Given the description of an element on the screen output the (x, y) to click on. 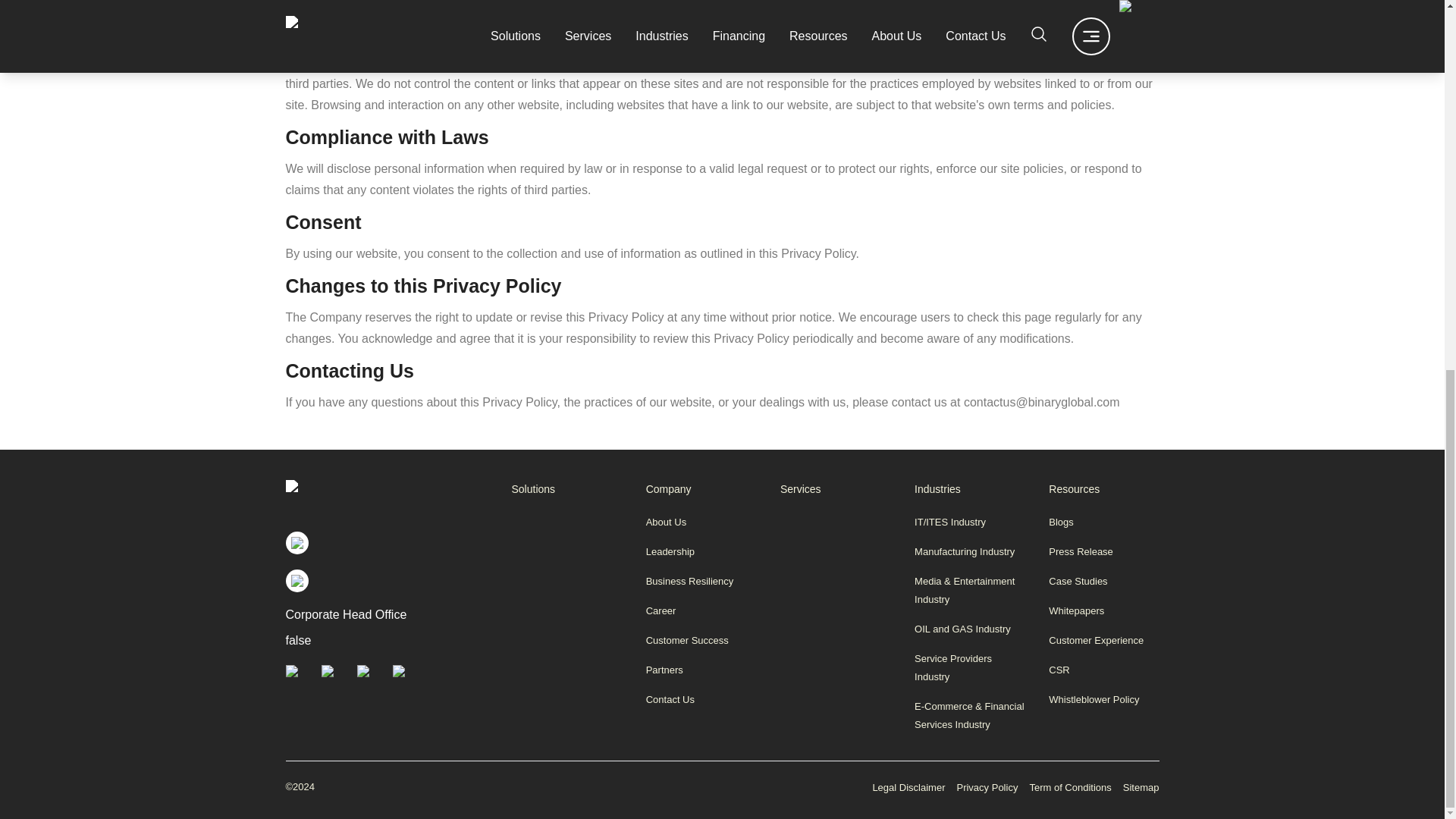
About Us (700, 522)
Whistleblower Policy (1103, 700)
